Given the description of an element on the screen output the (x, y) to click on. 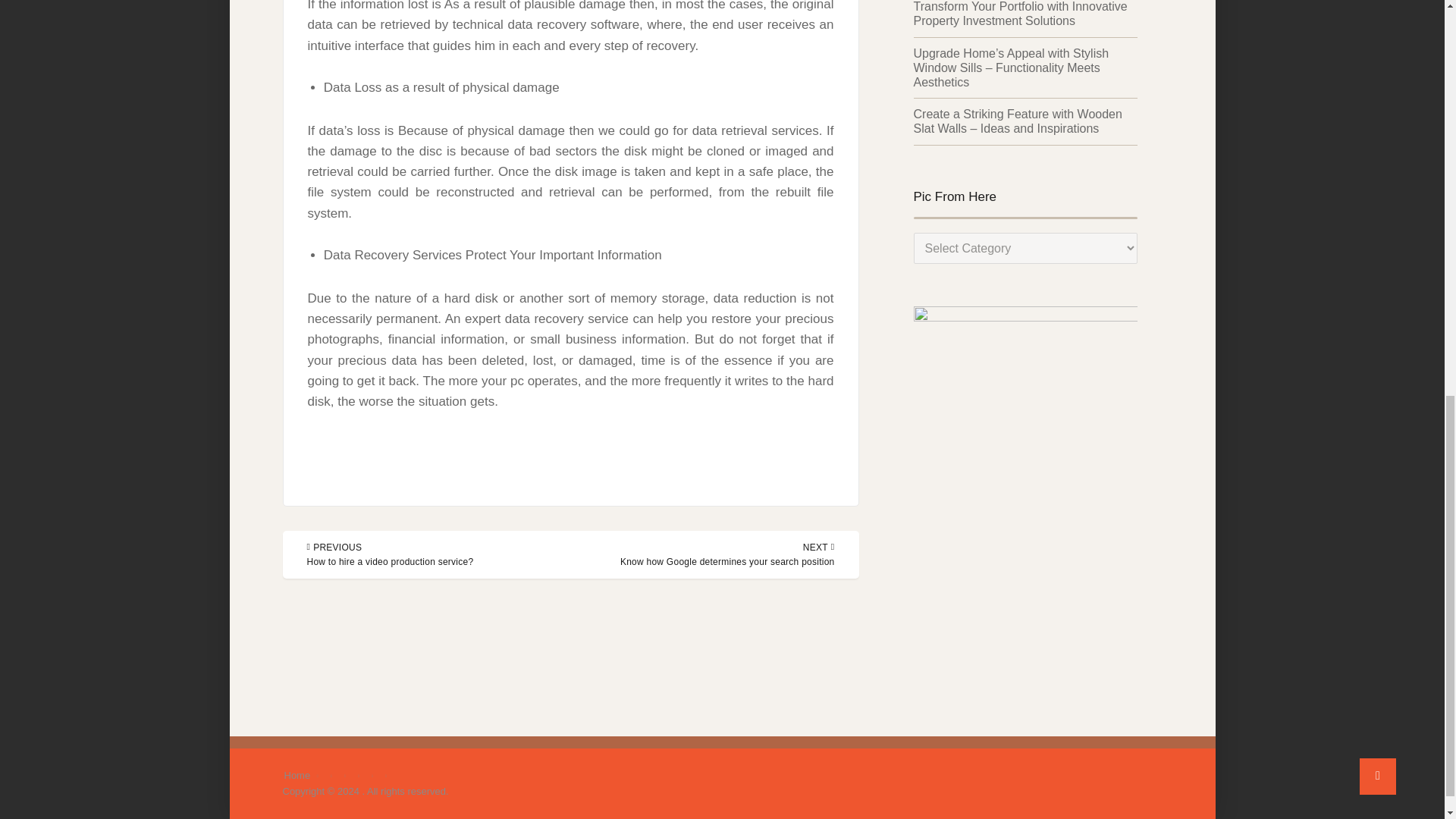
Scroll to top (1377, 3)
Home (296, 775)
